Given the description of an element on the screen output the (x, y) to click on. 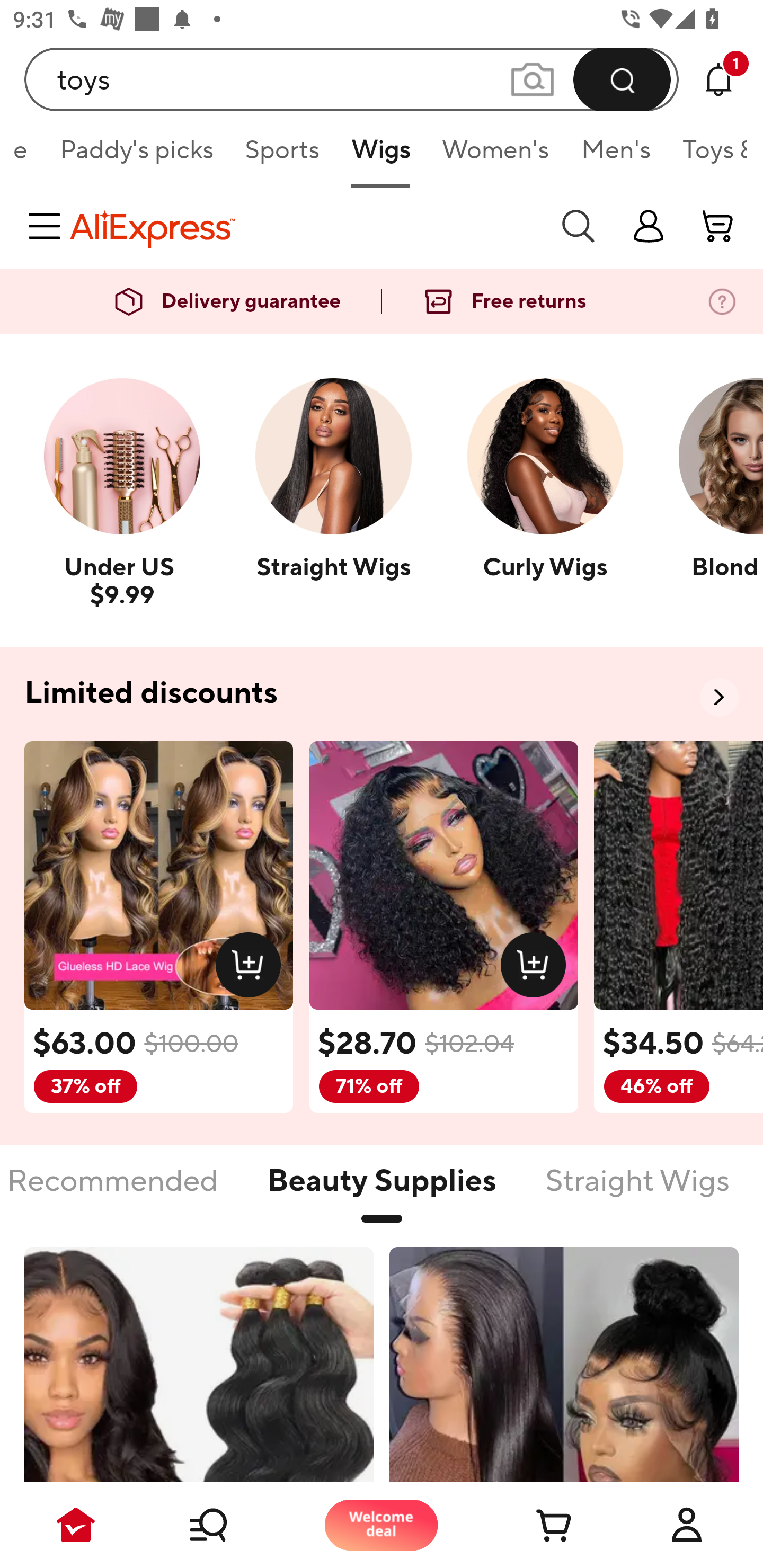
toys (351, 79)
Paddy's picks (135, 155)
Sports (281, 155)
Women's (495, 155)
Men's (615, 155)
aliexpress (305, 225)
category (47, 225)
shop (648, 225)
account (718, 225)
Limited discounts  Limited discounts (381, 694)
128x128.png_ (252, 967)
128x128.png_ (536, 967)
Recommended (112, 1191)
Beauty Supplies (382, 1191)
Straight Wigs (636, 1191)
Shop (228, 1524)
Cart (533, 1524)
Account (686, 1524)
